Given the description of an element on the screen output the (x, y) to click on. 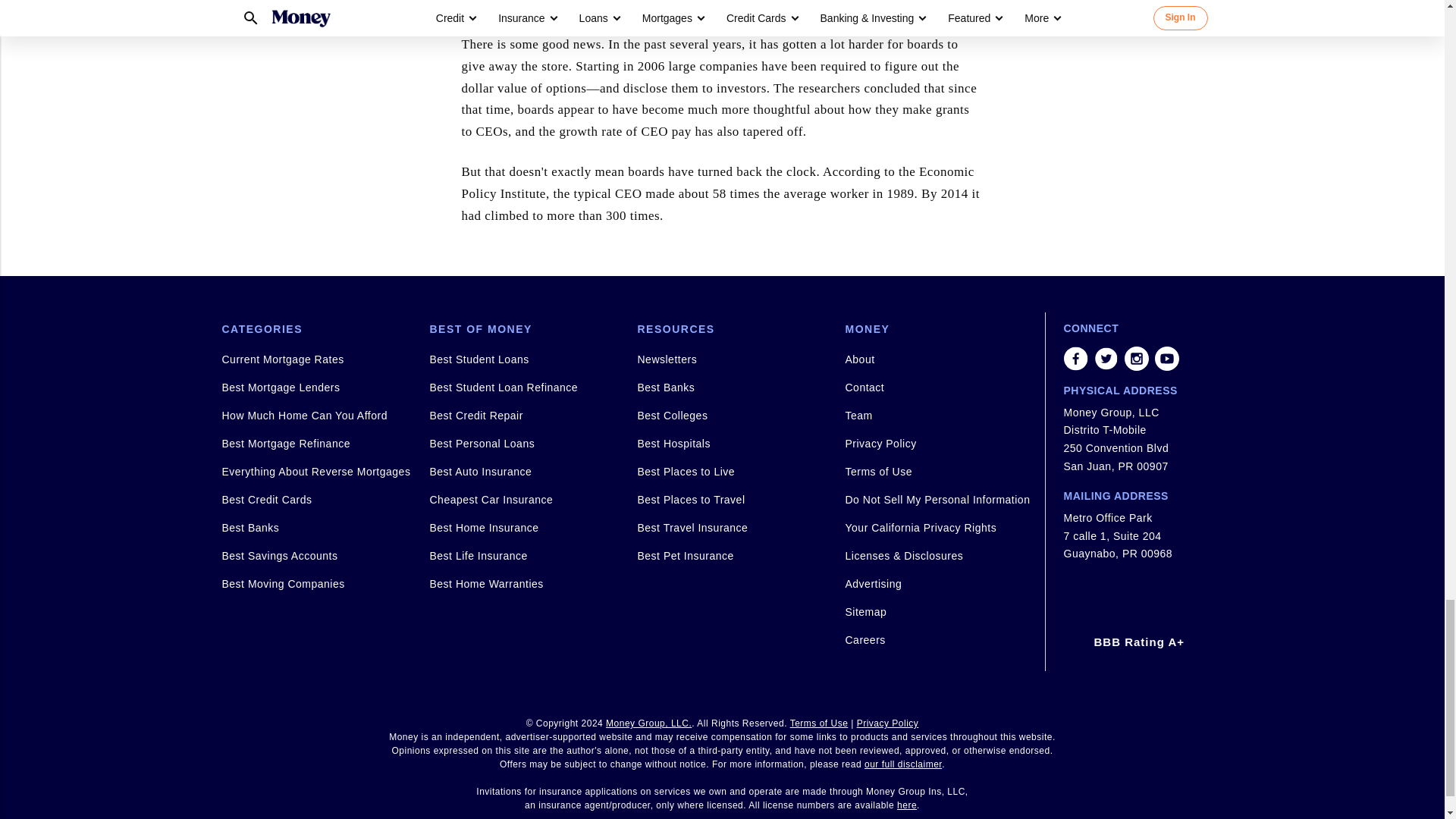
youtube share (1165, 358)
twitter share (1105, 358)
facebook share (1074, 358)
instagram share (1136, 358)
